Given the description of an element on the screen output the (x, y) to click on. 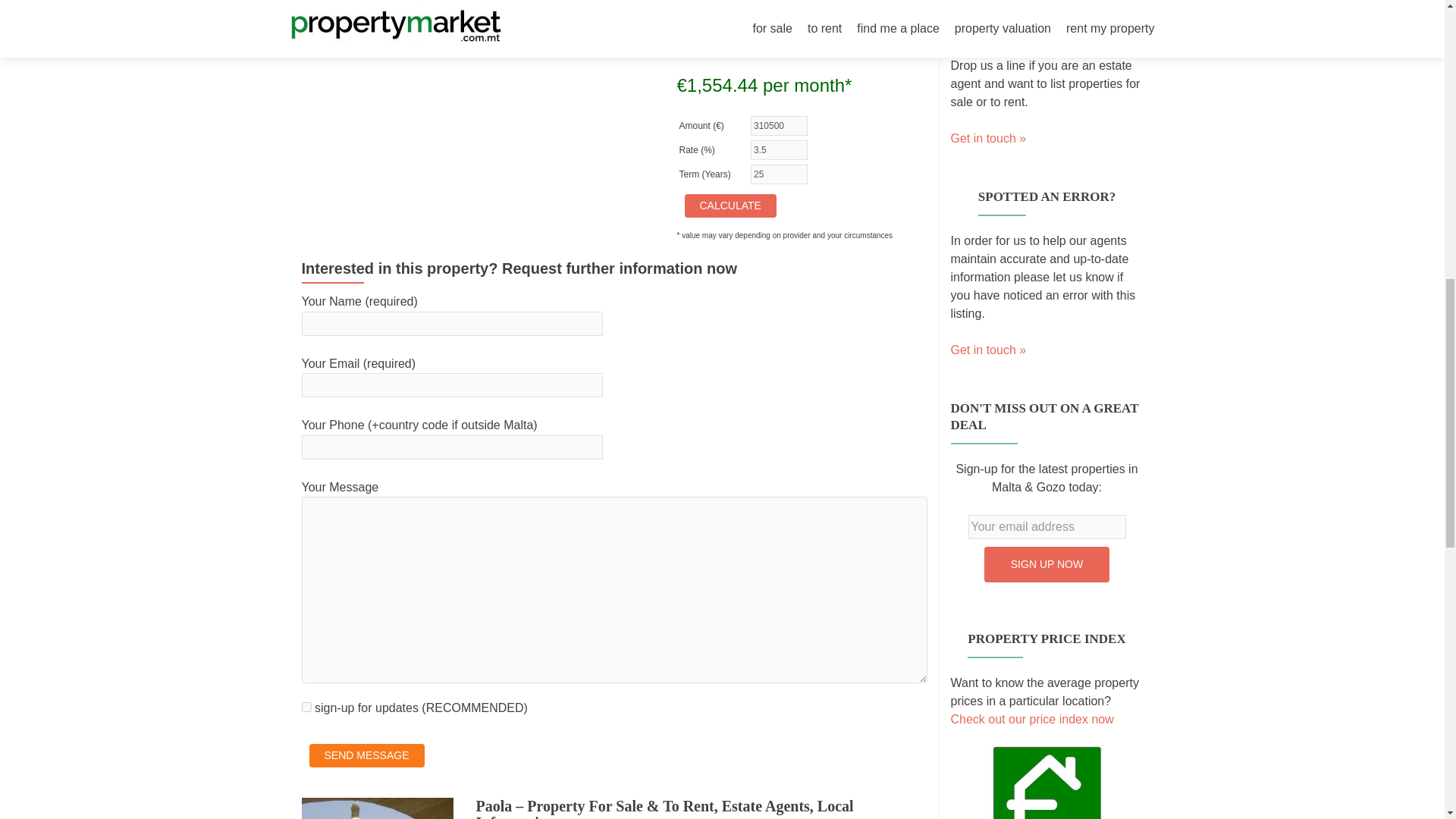
3.5 (779, 149)
Calculate (730, 205)
Calculate (730, 205)
1 (306, 706)
Sign Up Now (1046, 564)
Send Message (366, 755)
Check out our price index now (1031, 718)
View Malta's Property Price Index (1031, 718)
View Malta's Property Price Index (1046, 791)
310500 (779, 125)
Send Message (366, 755)
25 (779, 174)
Sign Up Now (1046, 564)
